Given the description of an element on the screen output the (x, y) to click on. 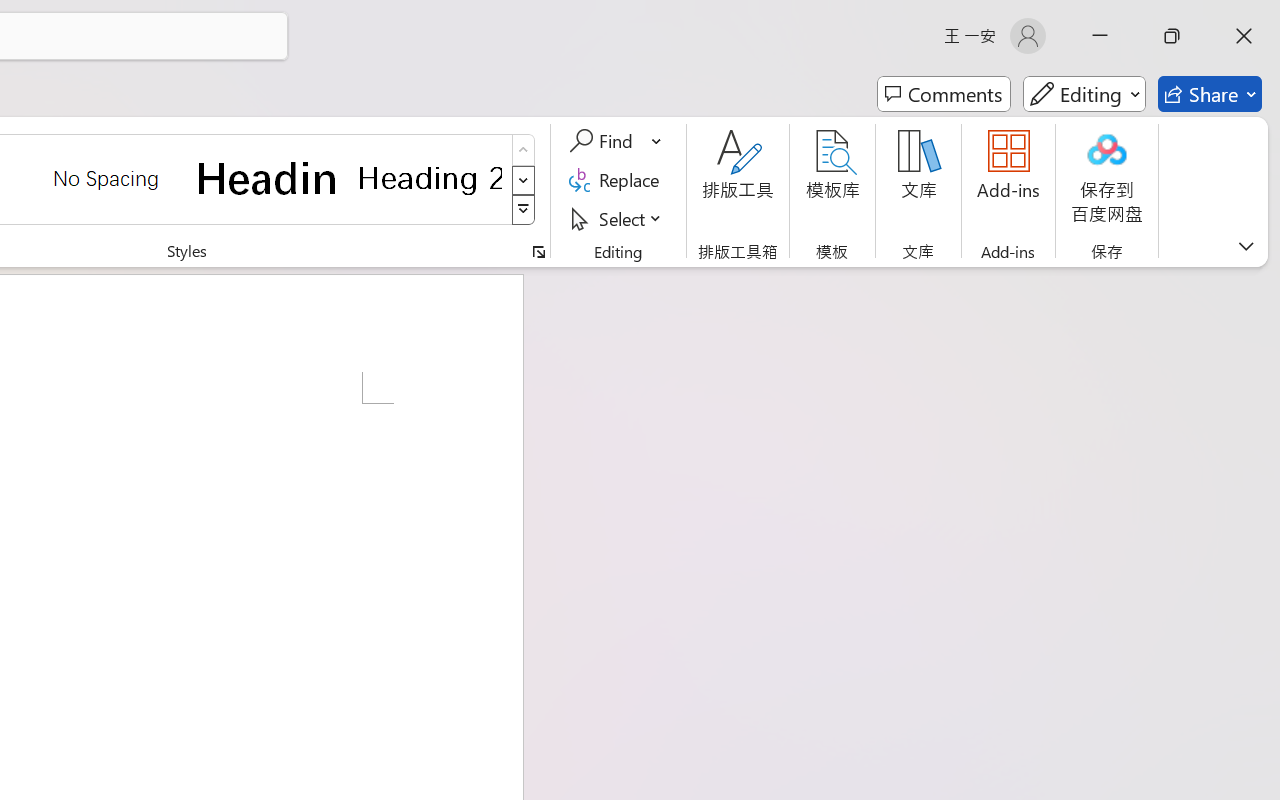
Styles... (538, 252)
Replace... (617, 179)
